Given the description of an element on the screen output the (x, y) to click on. 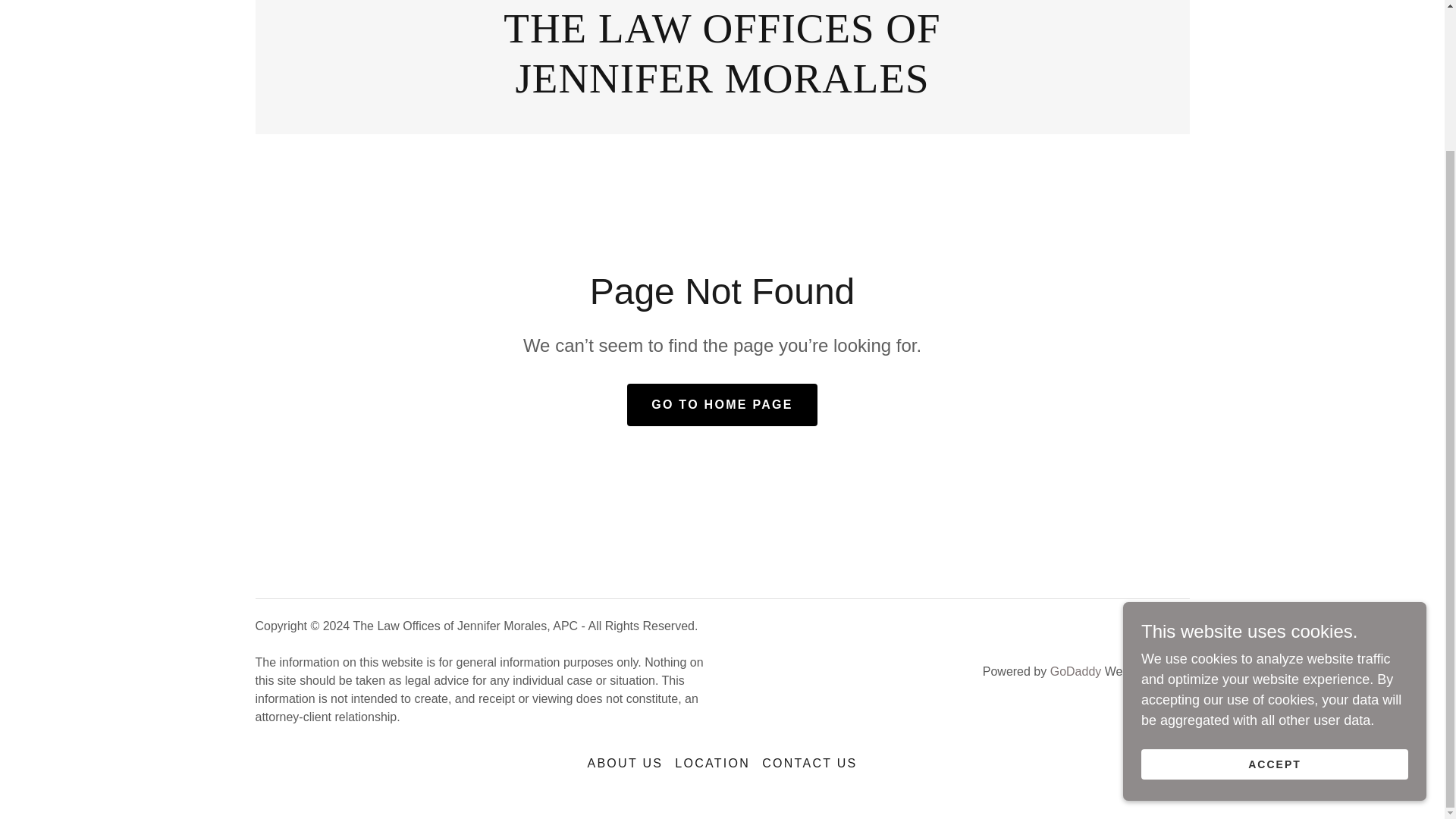
GoDaddy (1075, 671)
CONTACT US (809, 763)
GO TO HOME PAGE (721, 404)
ACCEPT (1274, 590)
ABOUT US (624, 763)
LOCATION (721, 87)
